Given the description of an element on the screen output the (x, y) to click on. 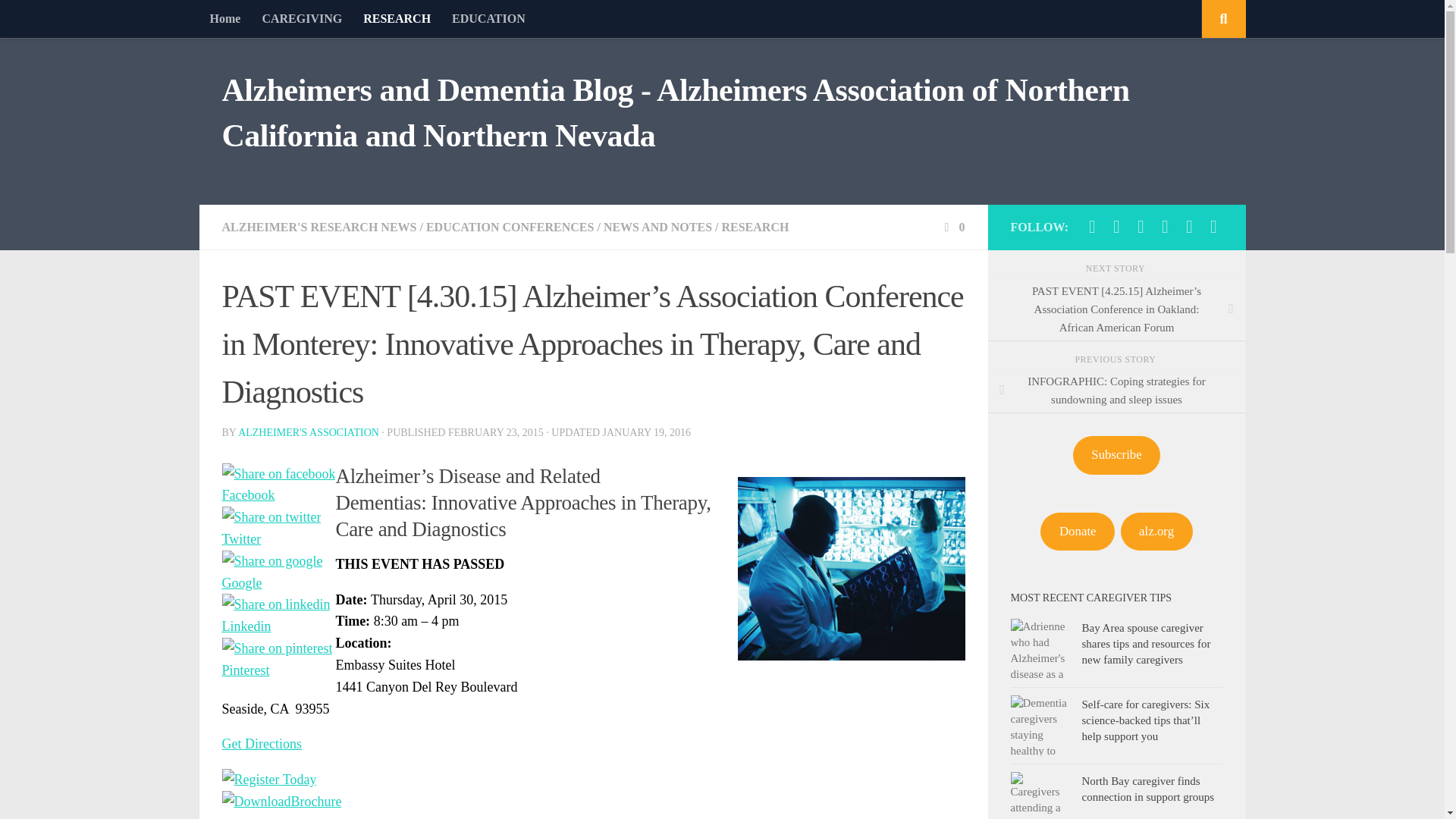
Twitter (277, 538)
EDUCATION (488, 18)
Google (277, 583)
Facebook (277, 495)
ALZHEIMER'S ASSOCIATION (308, 432)
Posts by Alzheimer's Association (308, 432)
Google (277, 582)
EDUCATION CONFERENCES (510, 226)
Pinterest (277, 660)
0 (951, 226)
